Given the description of an element on the screen output the (x, y) to click on. 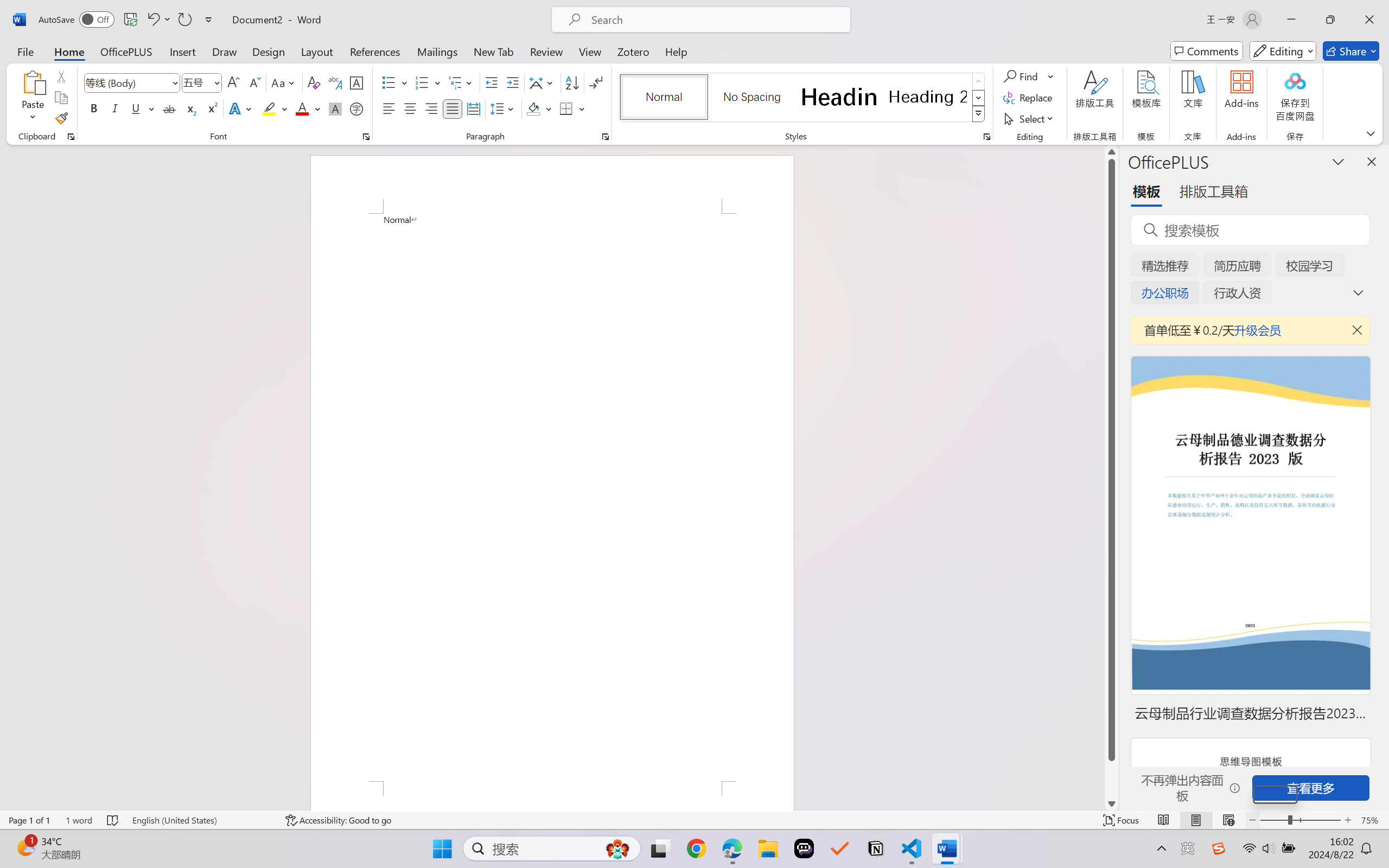
Minimize (1291, 19)
Superscript (210, 108)
Web Layout (1228, 819)
Language English (United States) (201, 819)
AutomationID: QuickStylesGallery (802, 97)
Borders (566, 108)
Text Highlight Color Yellow (269, 108)
Center (409, 108)
Heading 1 (839, 96)
Font Size (196, 82)
Font Color (308, 108)
Mailings (437, 51)
Multilevel List (461, 82)
